Given the description of an element on the screen output the (x, y) to click on. 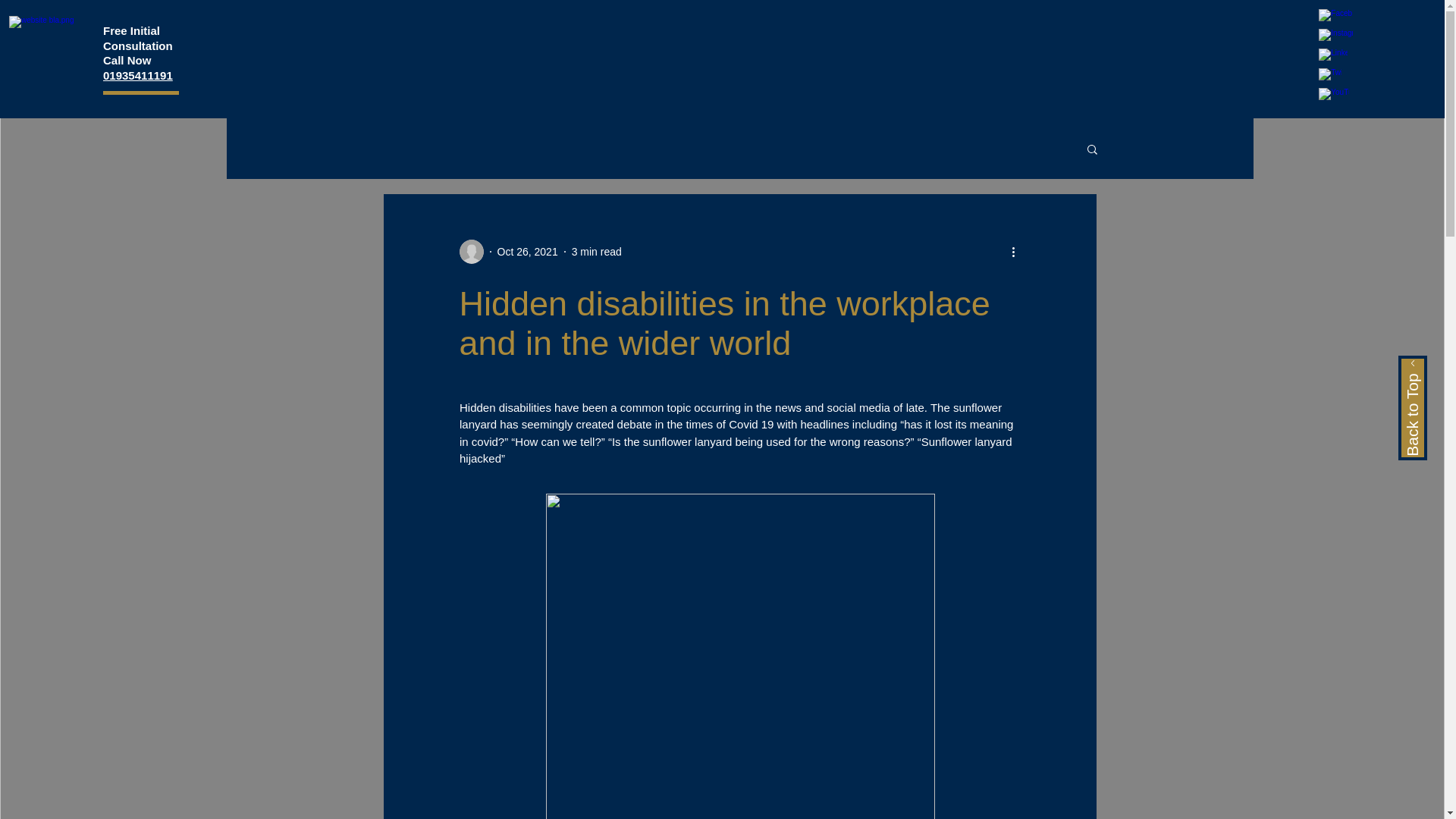
01935411191 (138, 74)
Free Initial Consultation (138, 38)
Oct 26, 2021 (527, 251)
3 min read (596, 251)
Call Now (127, 60)
